Given the description of an element on the screen output the (x, y) to click on. 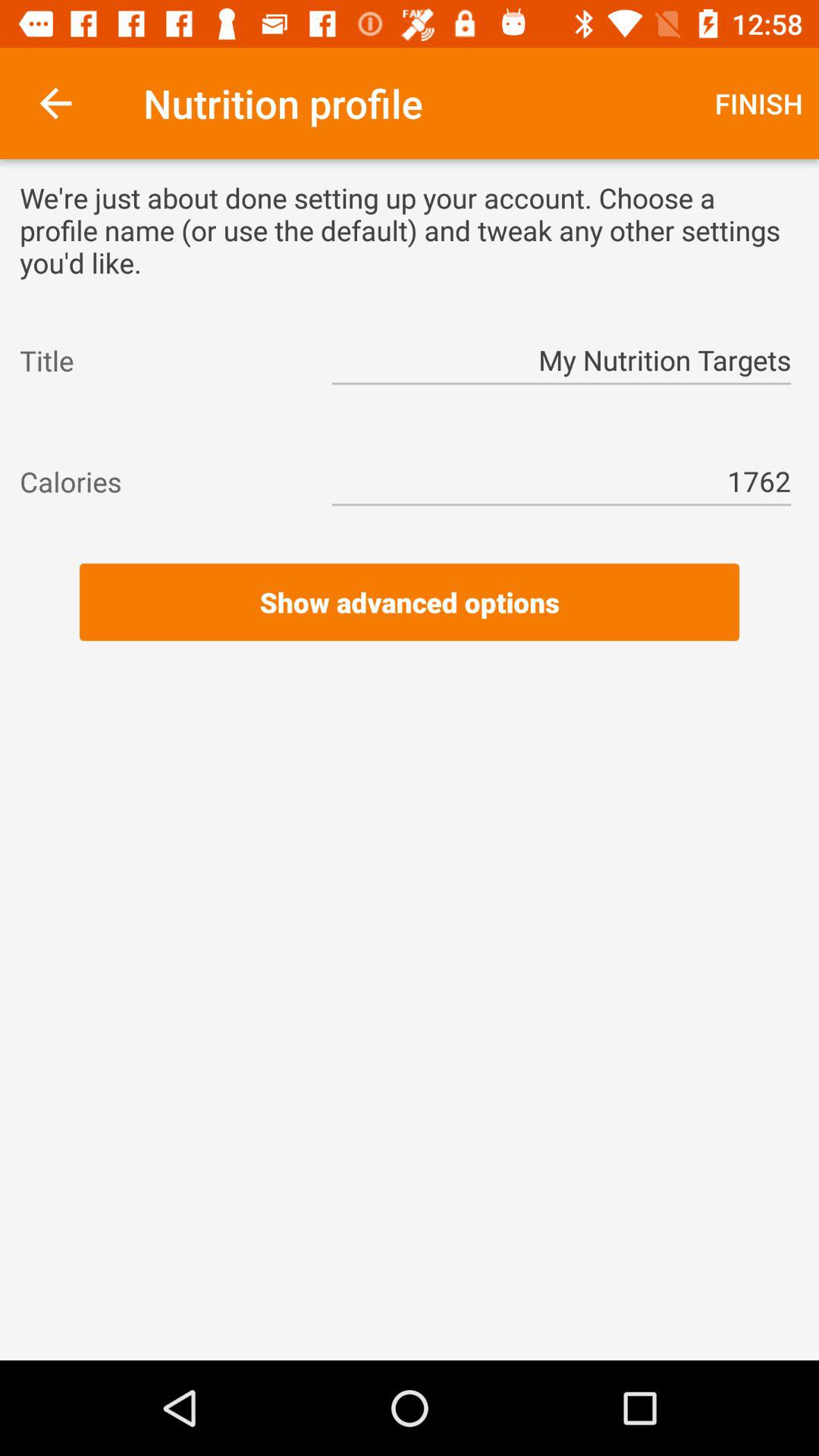
turn off item to the right of nutrition profile item (758, 103)
